Given the description of an element on the screen output the (x, y) to click on. 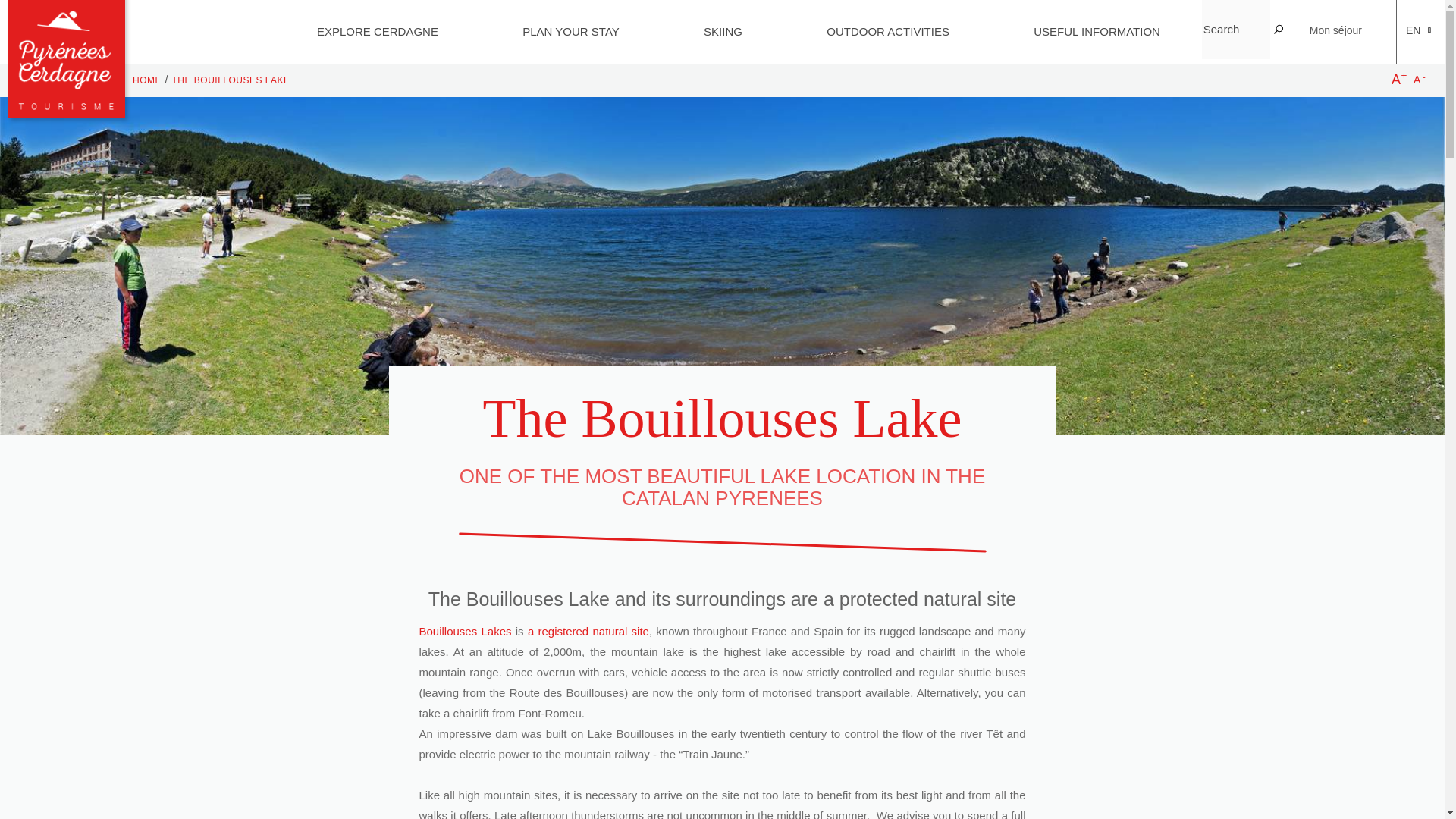
PLAN YOUR STAY (570, 31)
EXPLORE CERDAGNE (377, 31)
OK (1278, 29)
